Given the description of an element on the screen output the (x, y) to click on. 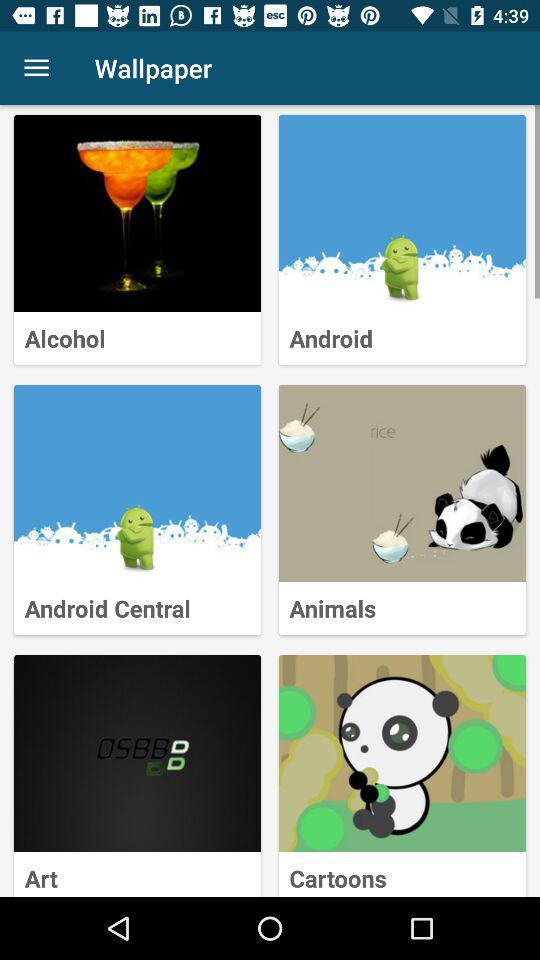
choose this wallpaper (137, 483)
